Given the description of an element on the screen output the (x, y) to click on. 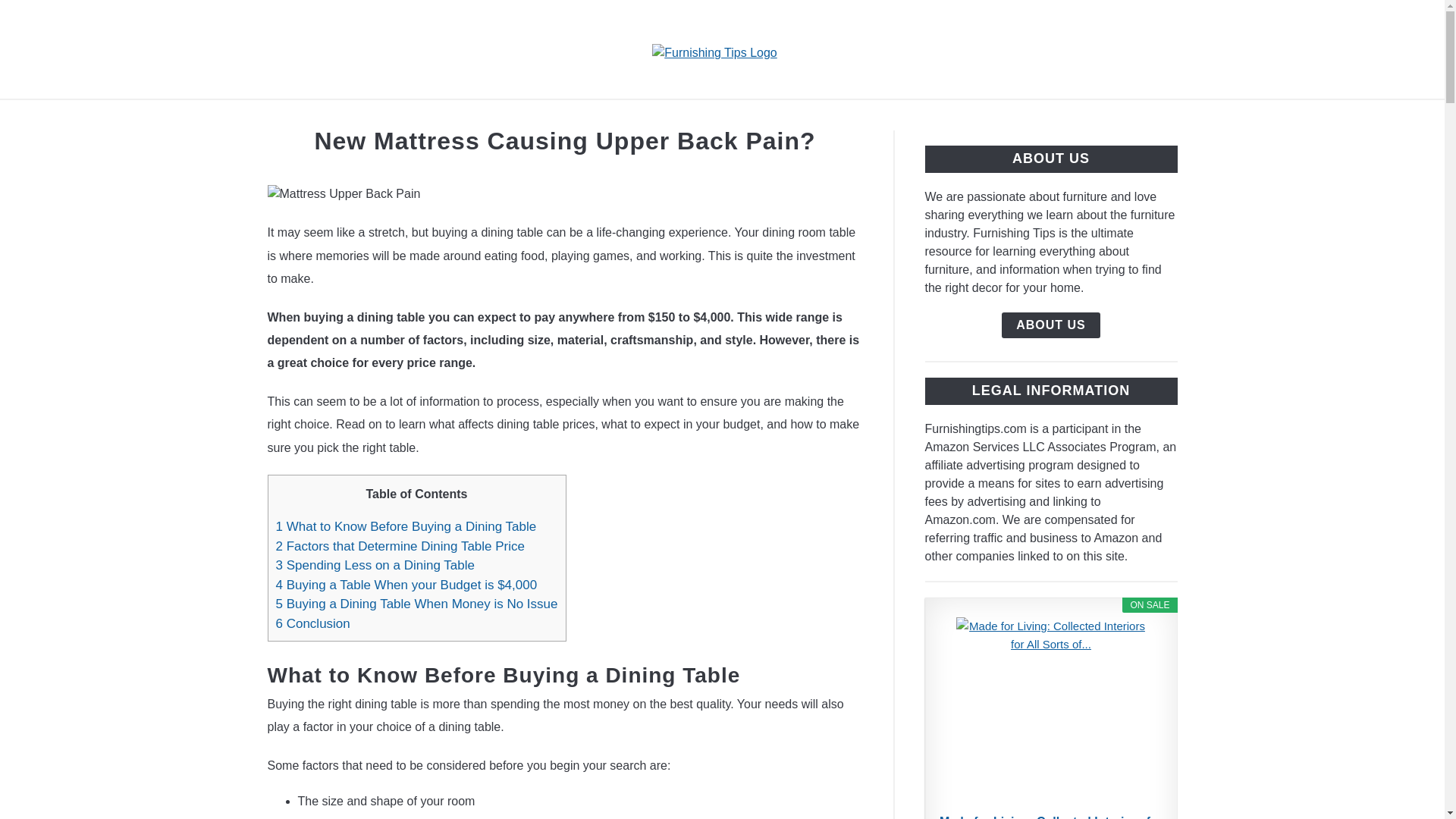
DINING ROOM (594, 117)
Search (1203, 49)
Made for Living: Collected Interiors for All Sorts of... (1051, 816)
Made for Living: Collected Interiors for All Sorts... (1051, 816)
Made for Living: Collected Interiors for All Sorts of... (1050, 711)
ABOUT US (1050, 325)
PATIO (1099, 117)
NURSERY (1016, 117)
2 Factors that Determine Dining Table Price (400, 545)
6 Conclusion (313, 623)
1 What to Know Before Buying a Dining Table (406, 526)
FURNITURE CARE (892, 117)
5 Buying a Dining Table When Money is No Issue (416, 603)
YOUTH FURNITURE (736, 117)
BEDROOM (481, 117)
